Given the description of an element on the screen output the (x, y) to click on. 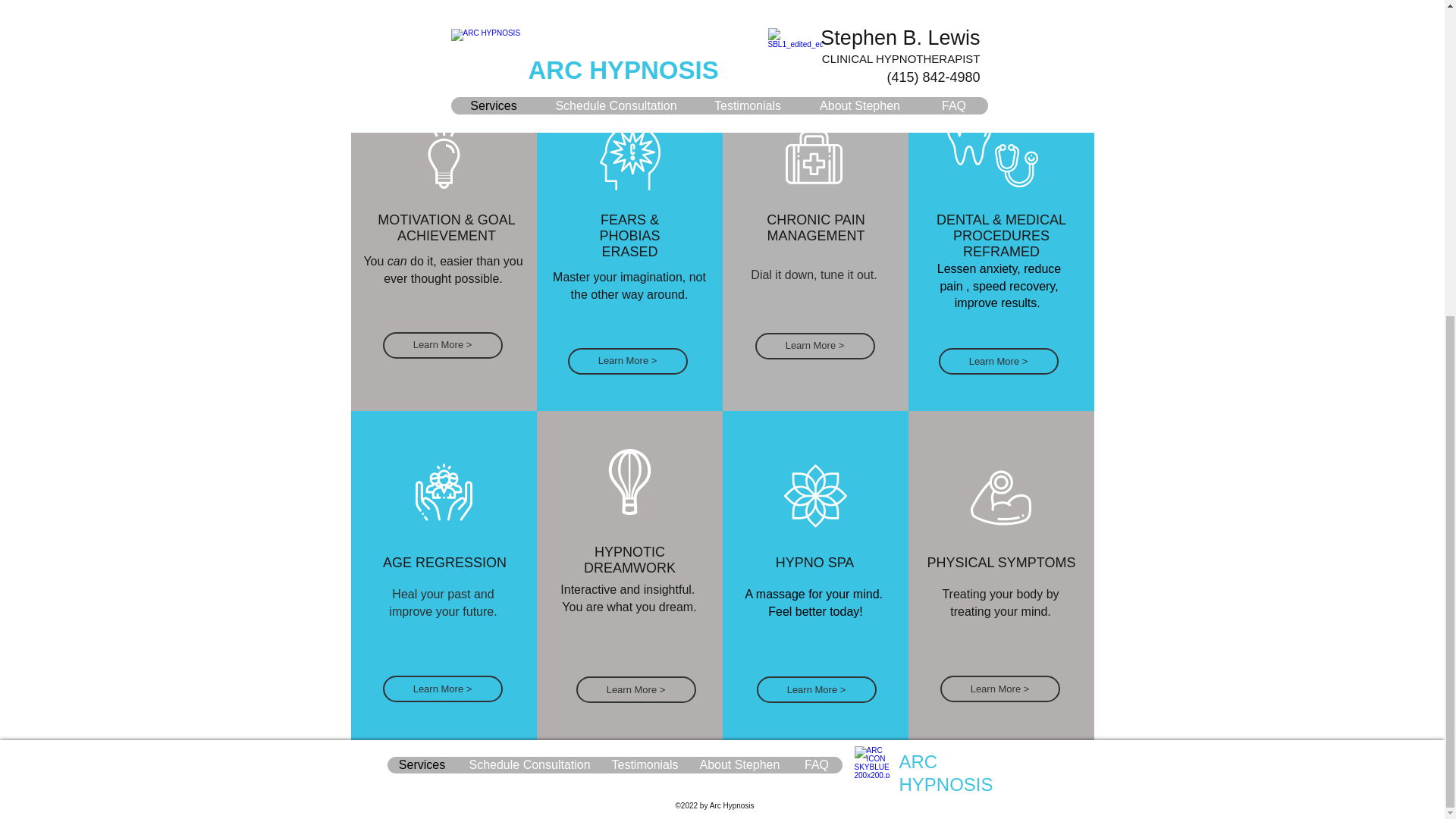
Book Now (643, 38)
Book Now (1016, 38)
Book Now (829, 38)
